Given the description of an element on the screen output the (x, y) to click on. 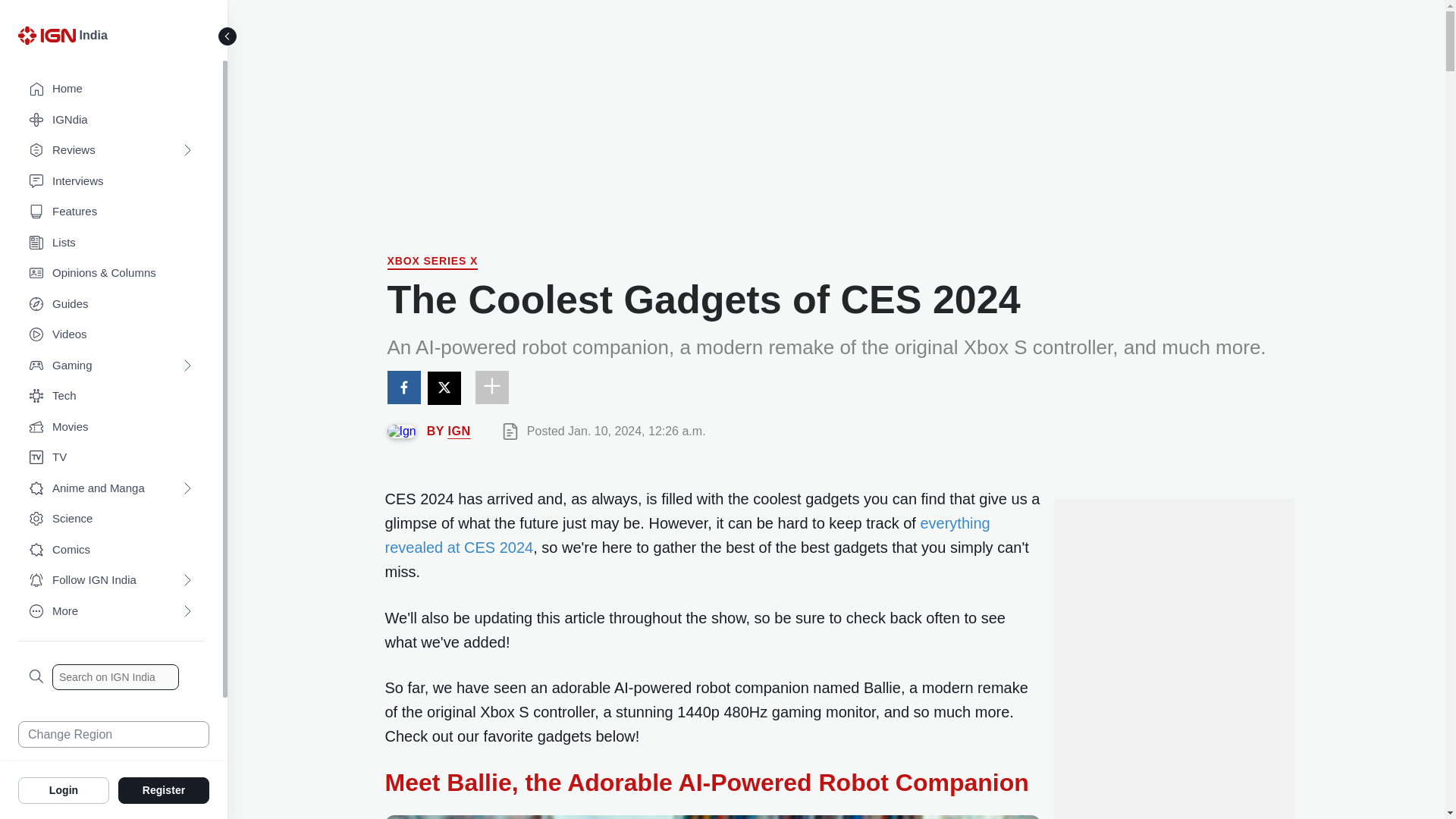
More (111, 610)
Lists (111, 242)
TV (111, 457)
Xbox Series X (432, 262)
Tech (111, 396)
Home (111, 89)
IGNdia (111, 119)
IGN Logo (46, 34)
IGN Logo (48, 39)
Videos (111, 334)
Guides (111, 304)
Anime and Manga (111, 487)
Gaming (111, 365)
Comics (111, 550)
Reviews (111, 150)
